Given the description of an element on the screen output the (x, y) to click on. 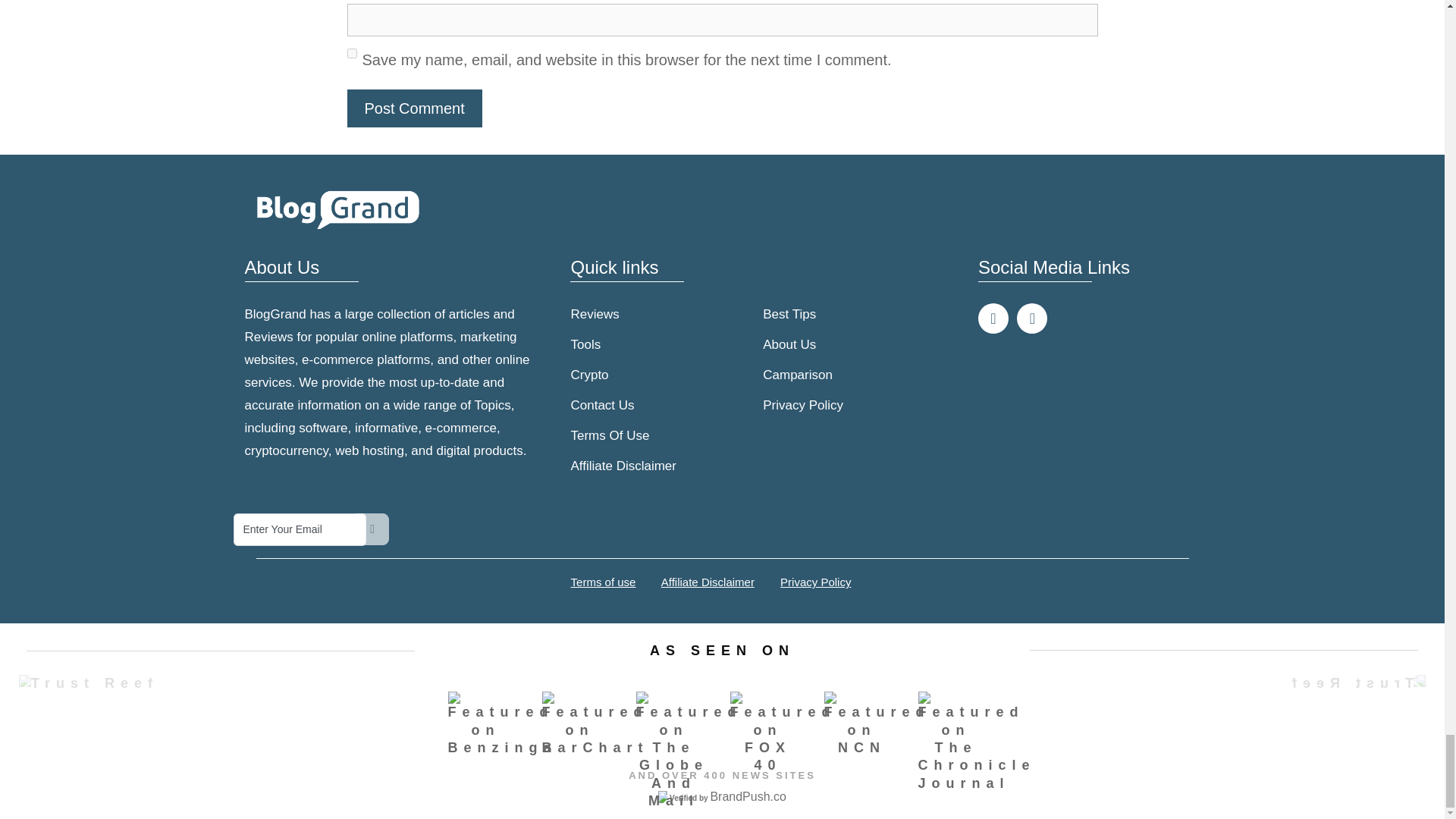
Terms Of Use (666, 436)
Affiliate Disclaimer (762, 466)
Reviews (666, 314)
Post Comment (414, 108)
Contact Us (666, 404)
Best Tips (858, 314)
Privacy Policy (858, 404)
yes (351, 53)
Camparison (858, 374)
About Us (858, 344)
Crypto (666, 374)
Post Comment (414, 108)
Enter Your Email (299, 530)
Tools (666, 344)
